Given the description of an element on the screen output the (x, y) to click on. 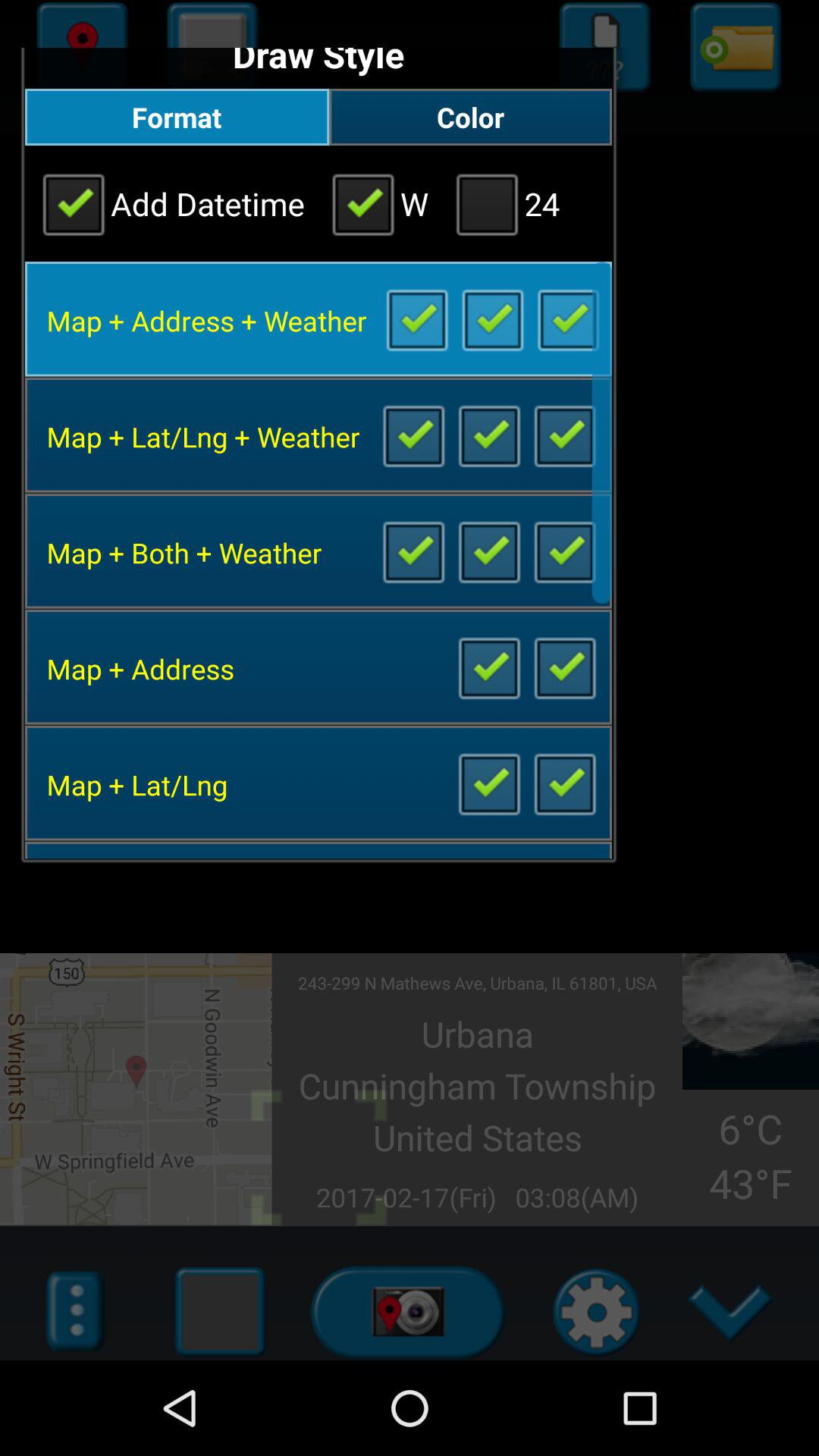
choice to see weather (564, 550)
